Given the description of an element on the screen output the (x, y) to click on. 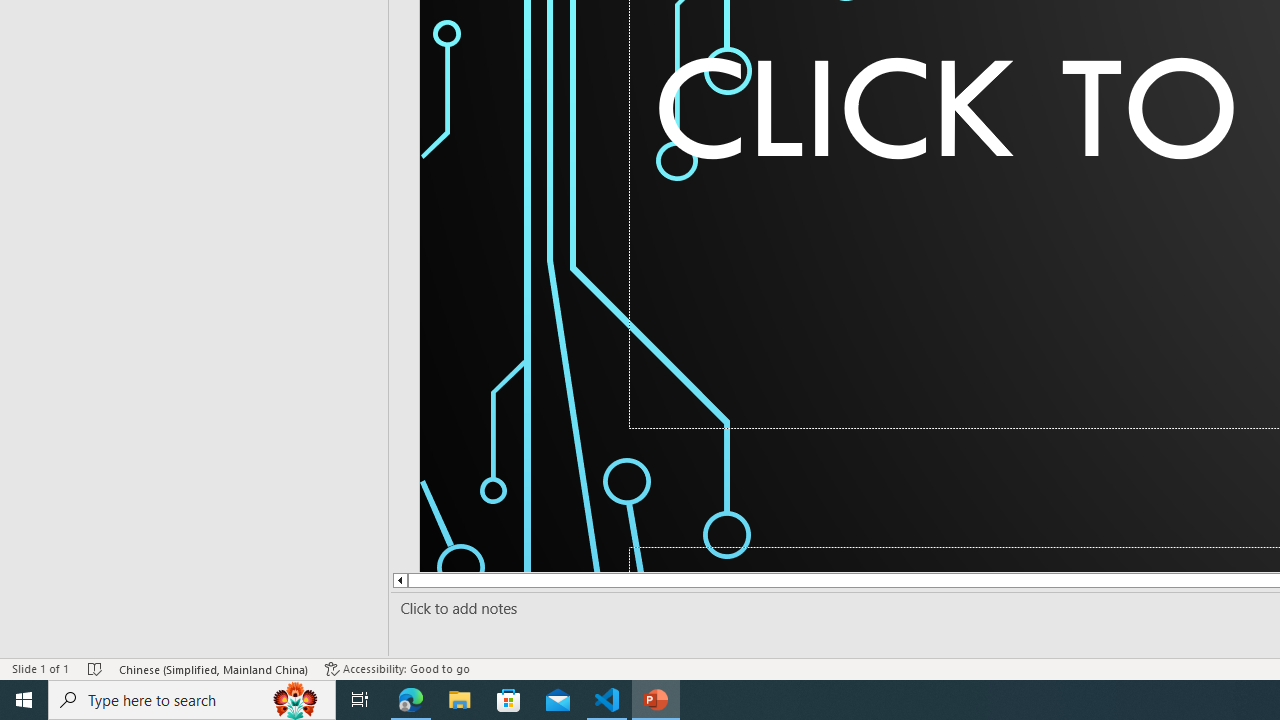
Accessibility Checker Accessibility: Good to go (397, 668)
Spell Check No Errors (95, 668)
